Given the description of an element on the screen output the (x, y) to click on. 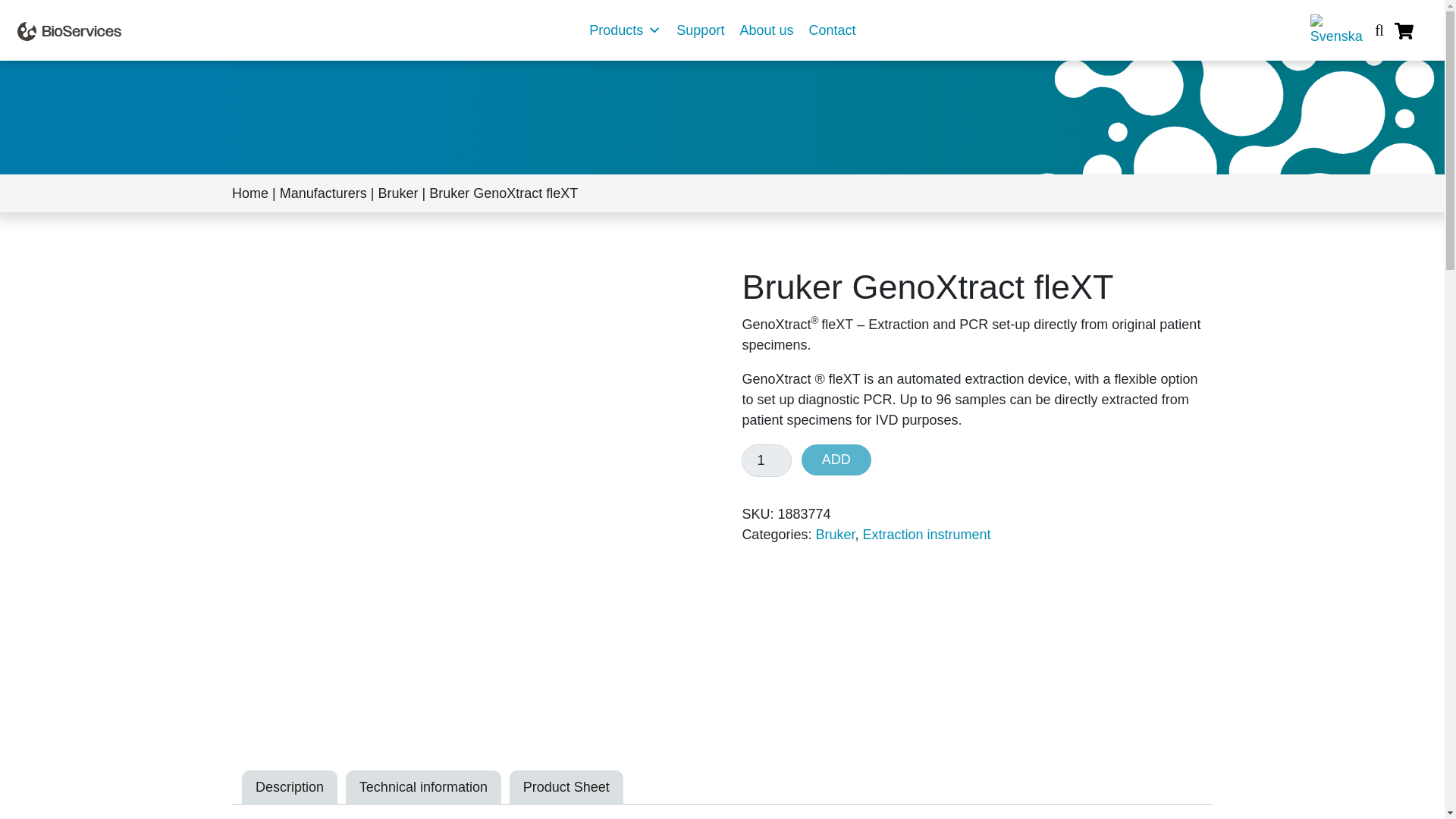
Cart (1403, 28)
1 (765, 460)
Products (624, 30)
Support (700, 30)
About us (766, 30)
Contact (831, 30)
